Given the description of an element on the screen output the (x, y) to click on. 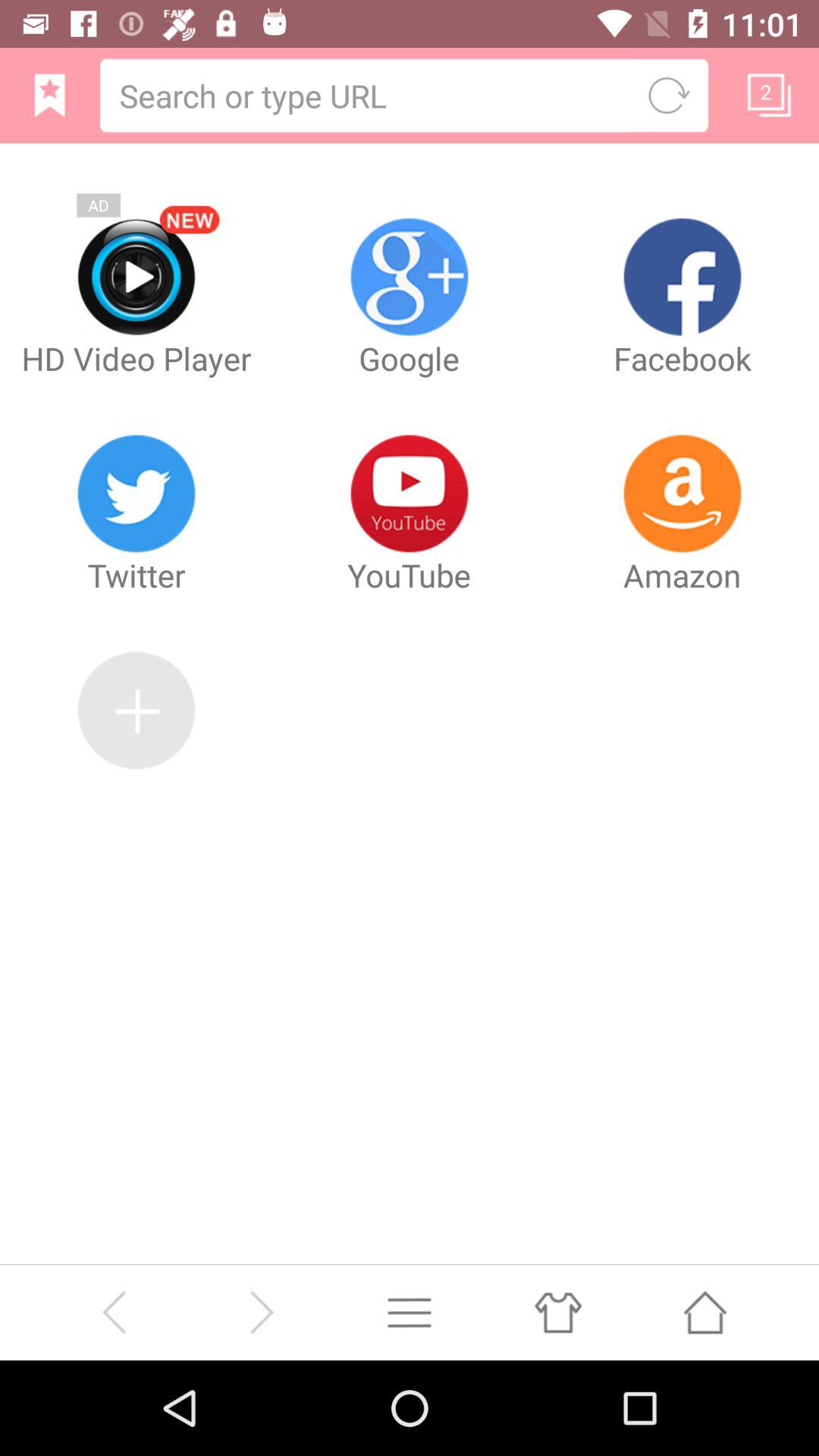
show closet (557, 1312)
